Given the description of an element on the screen output the (x, y) to click on. 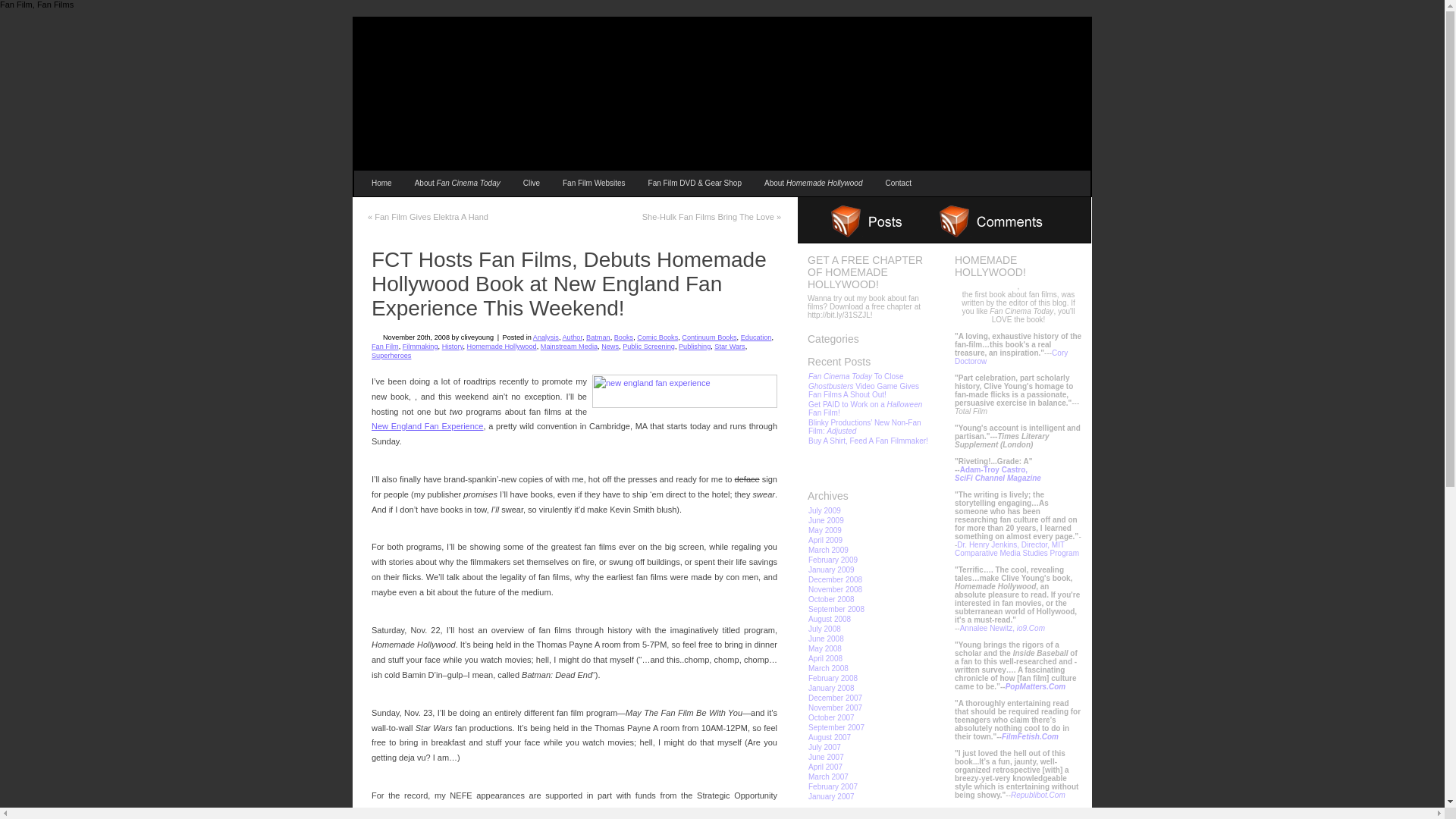
Batman (598, 337)
Mainstream Media (568, 346)
News (609, 346)
About Fan Cinema Today (457, 182)
View all posts in Continuum Books (708, 337)
View all posts in Analysis (545, 337)
Superheroes (390, 355)
View all posts in Batman (598, 337)
About Homemade Hollywood (813, 182)
Contact (897, 182)
Filmmaking (420, 346)
History (452, 346)
Author (572, 337)
About Fan Cinema Today (457, 182)
Analysis (545, 337)
